Given the description of an element on the screen output the (x, y) to click on. 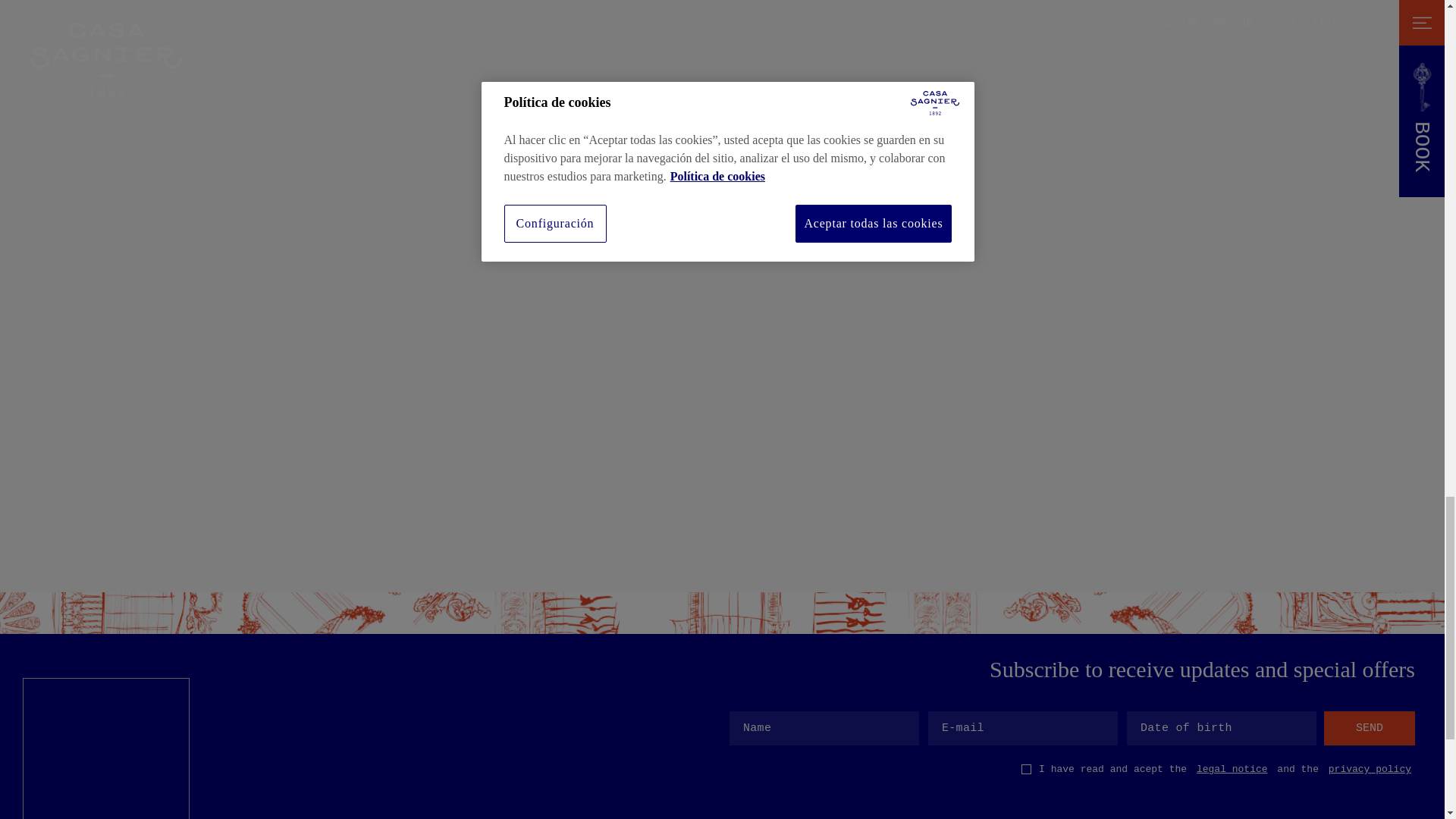
SEND (1369, 728)
on (1026, 768)
legal notice (1232, 768)
